Given the description of an element on the screen output the (x, y) to click on. 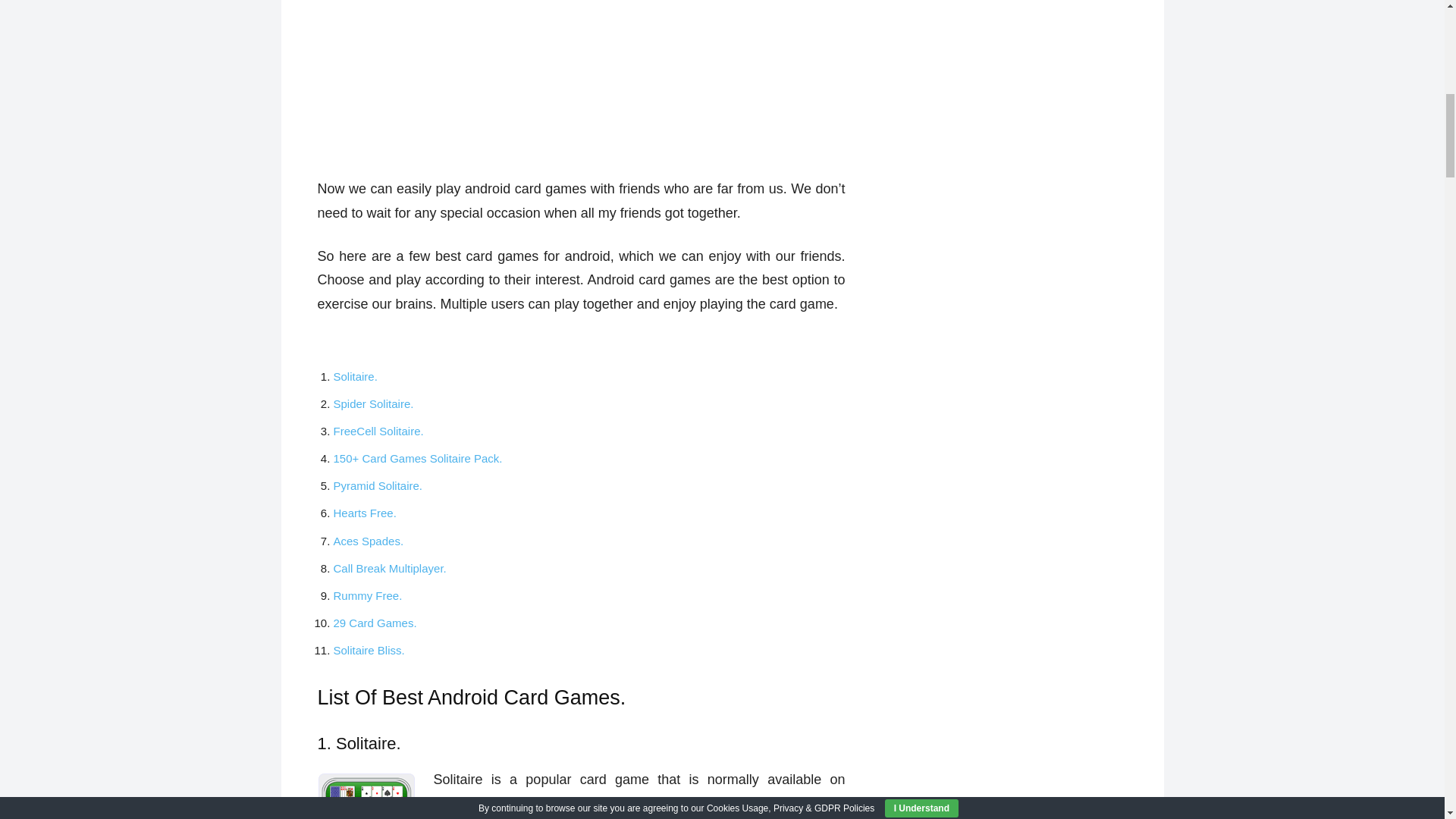
Solitaire Android Card Games (365, 796)
Advertisement (580, 85)
